Given the description of an element on the screen output the (x, y) to click on. 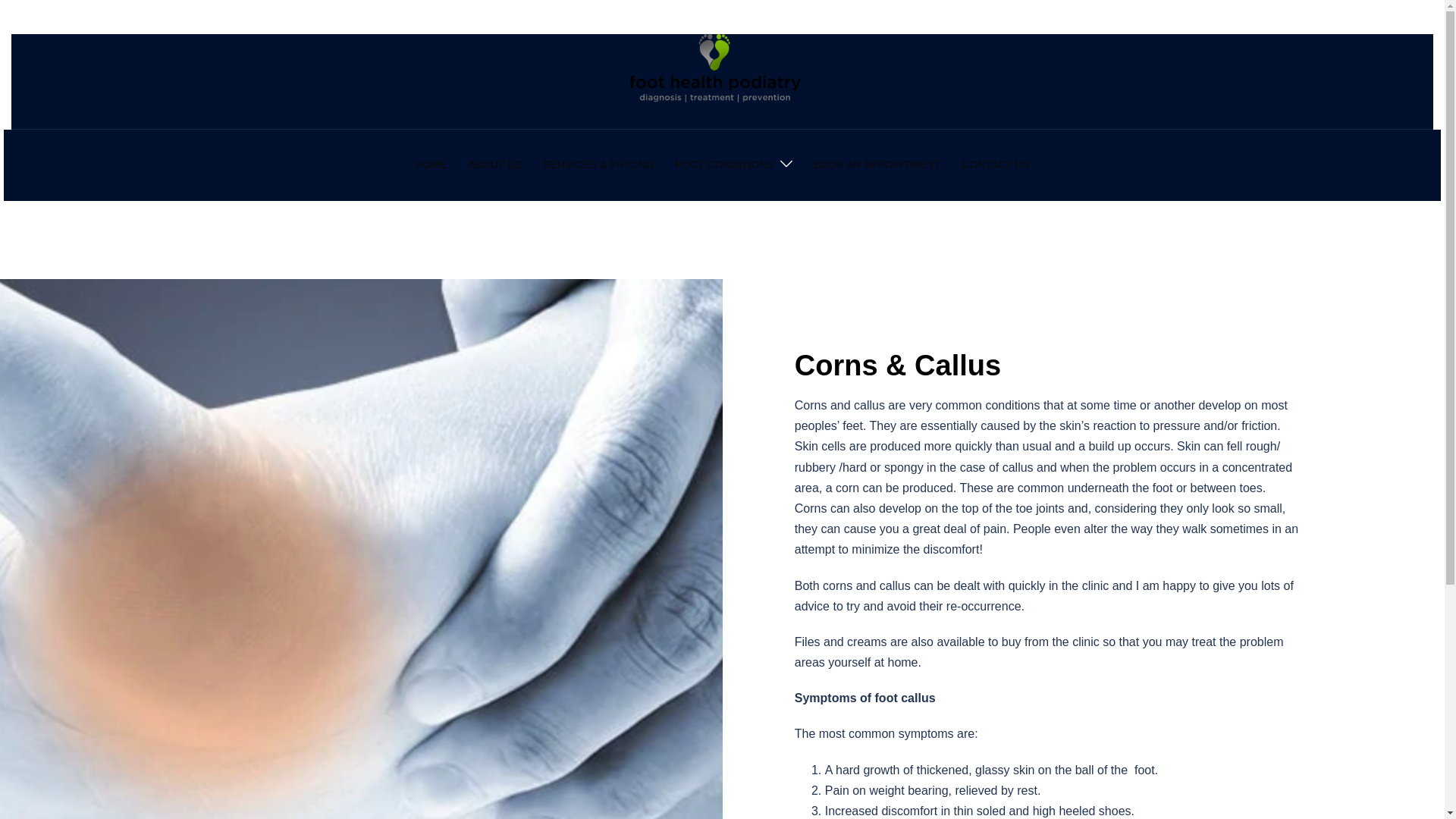
BOOK AN APPOINTMENT (876, 165)
CONTACT US (994, 165)
Foot Health Podiatry Prestwich (994, 165)
ABOUT US (494, 165)
HOME (430, 165)
Foot Health Podiatry (722, 80)
FOOT CONDITIONS (724, 165)
About Foot Health Podiatry (494, 165)
